Given the description of an element on the screen output the (x, y) to click on. 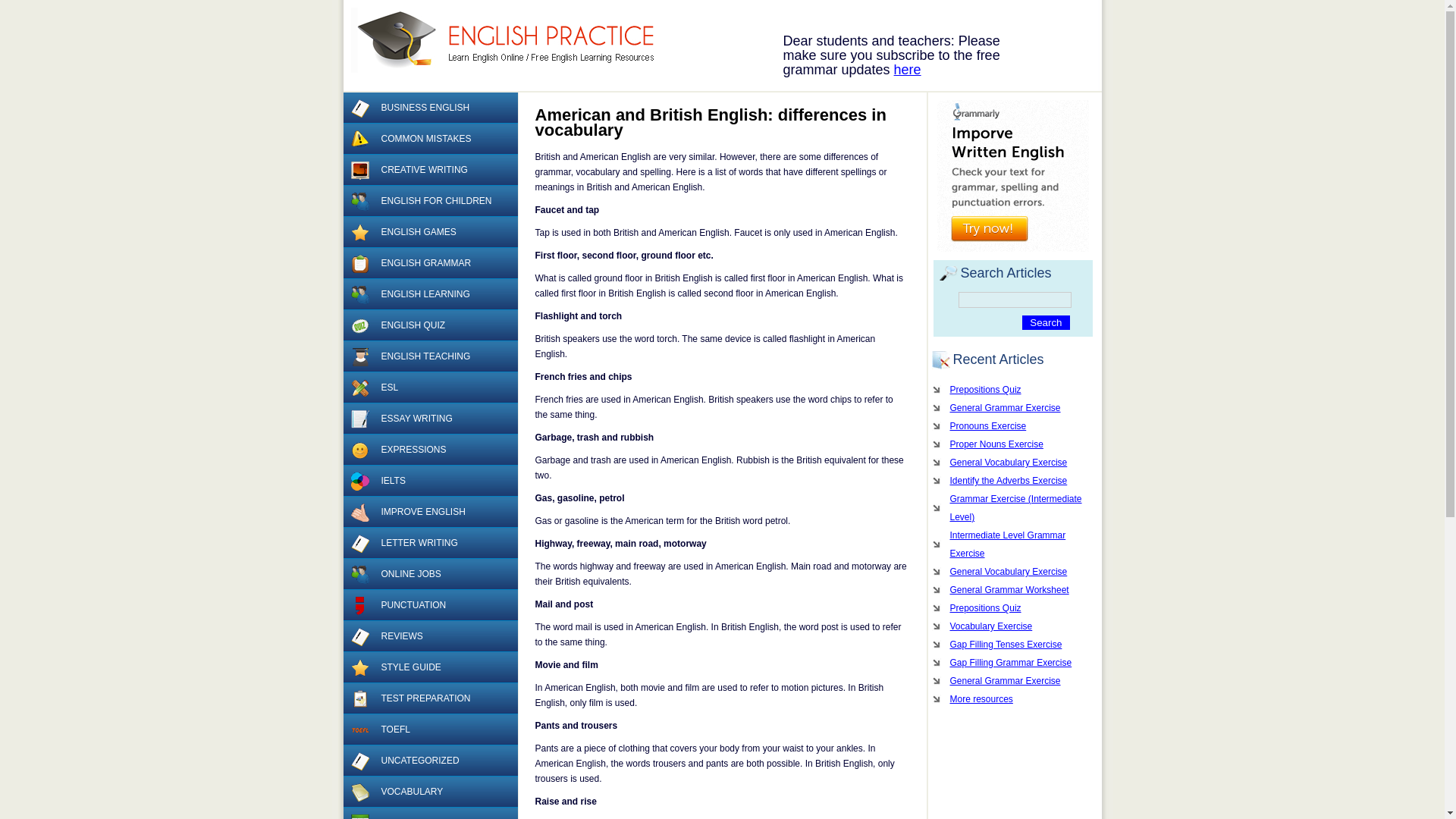
REVIEWS (429, 635)
COMMON MISTAKES (429, 138)
LETTER WRITING (429, 542)
Creative Writing (359, 170)
UNCATEGORIZED (429, 760)
ESL (429, 387)
EXPRESSIONS (429, 450)
Search (1045, 322)
Pronouns Exercise (1012, 425)
ENGLISH LEARNING (429, 294)
